Given the description of an element on the screen output the (x, y) to click on. 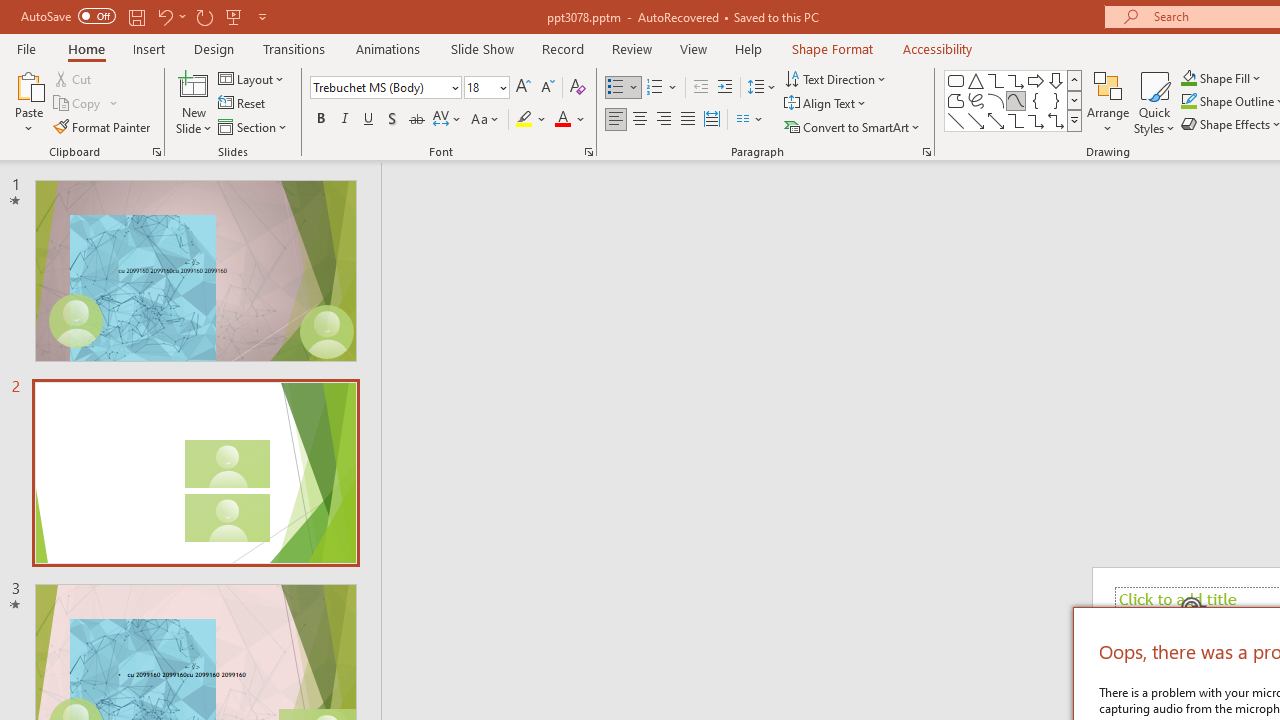
Shape Fill Dark Green, Accent 2 (1188, 78)
